Given the description of an element on the screen output the (x, y) to click on. 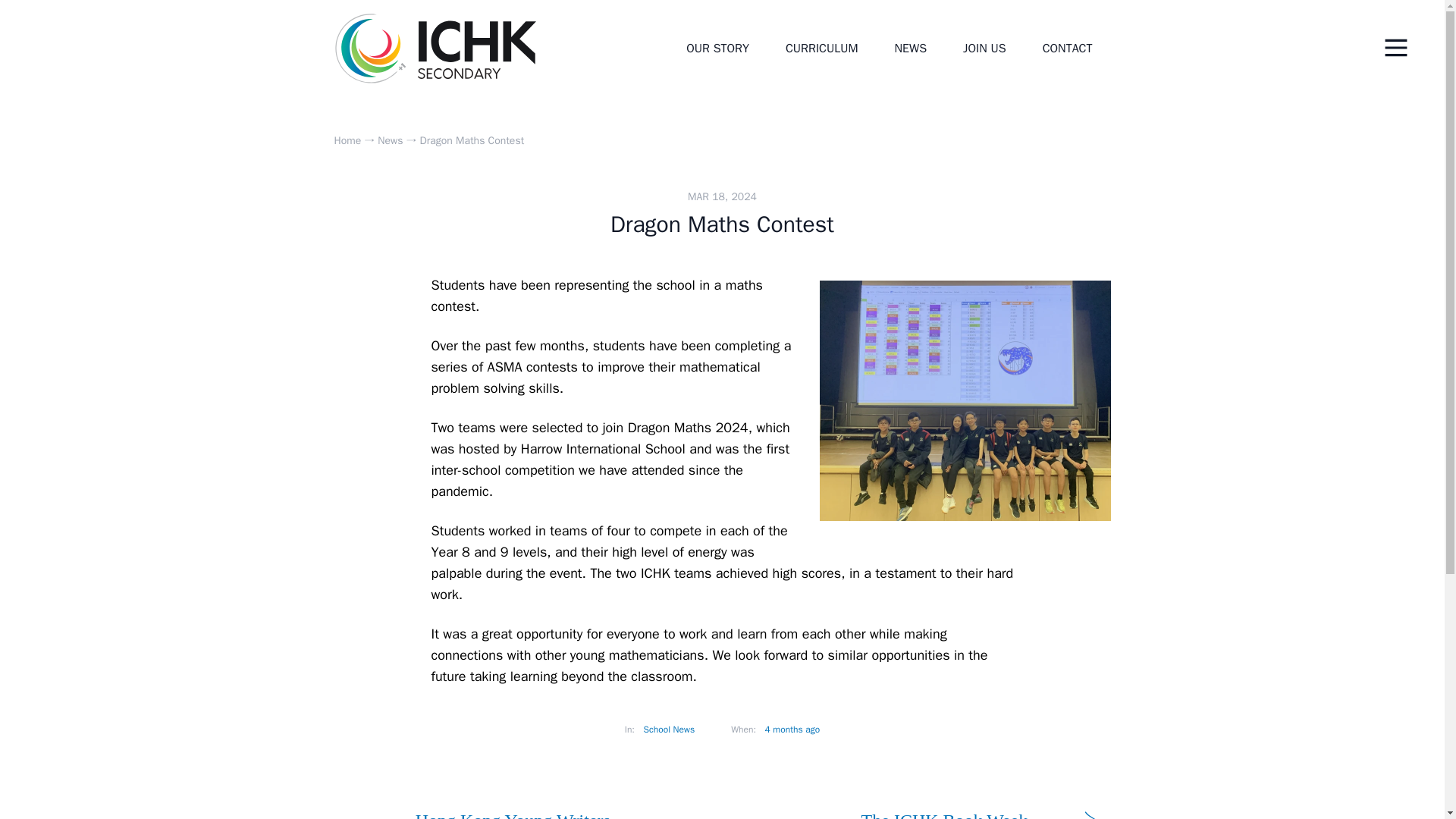
JOIN US (984, 47)
CURRICULUM (821, 47)
CONTACT (1067, 47)
OUR STORY (717, 47)
International College Hong Kong (435, 48)
